Given the description of an element on the screen output the (x, y) to click on. 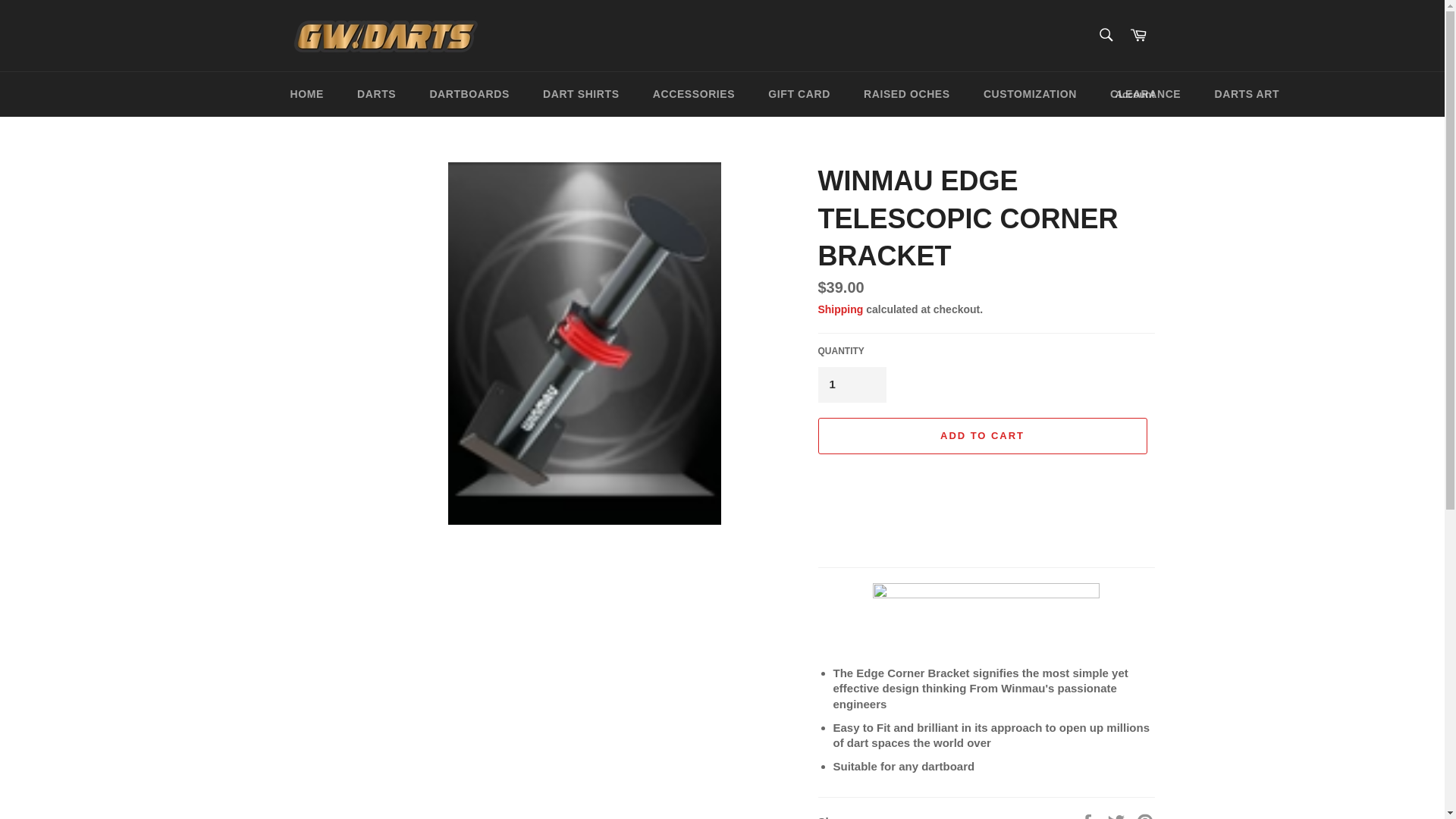
DARTS (376, 94)
Account (1133, 94)
Tweet on Twitter (1117, 816)
HOME (306, 94)
DART SHIRTS (580, 94)
DARTS ART (1246, 94)
1 (850, 384)
RAISED OCHES (906, 94)
Cart (1138, 35)
Share on Facebook (1088, 816)
